Given the description of an element on the screen output the (x, y) to click on. 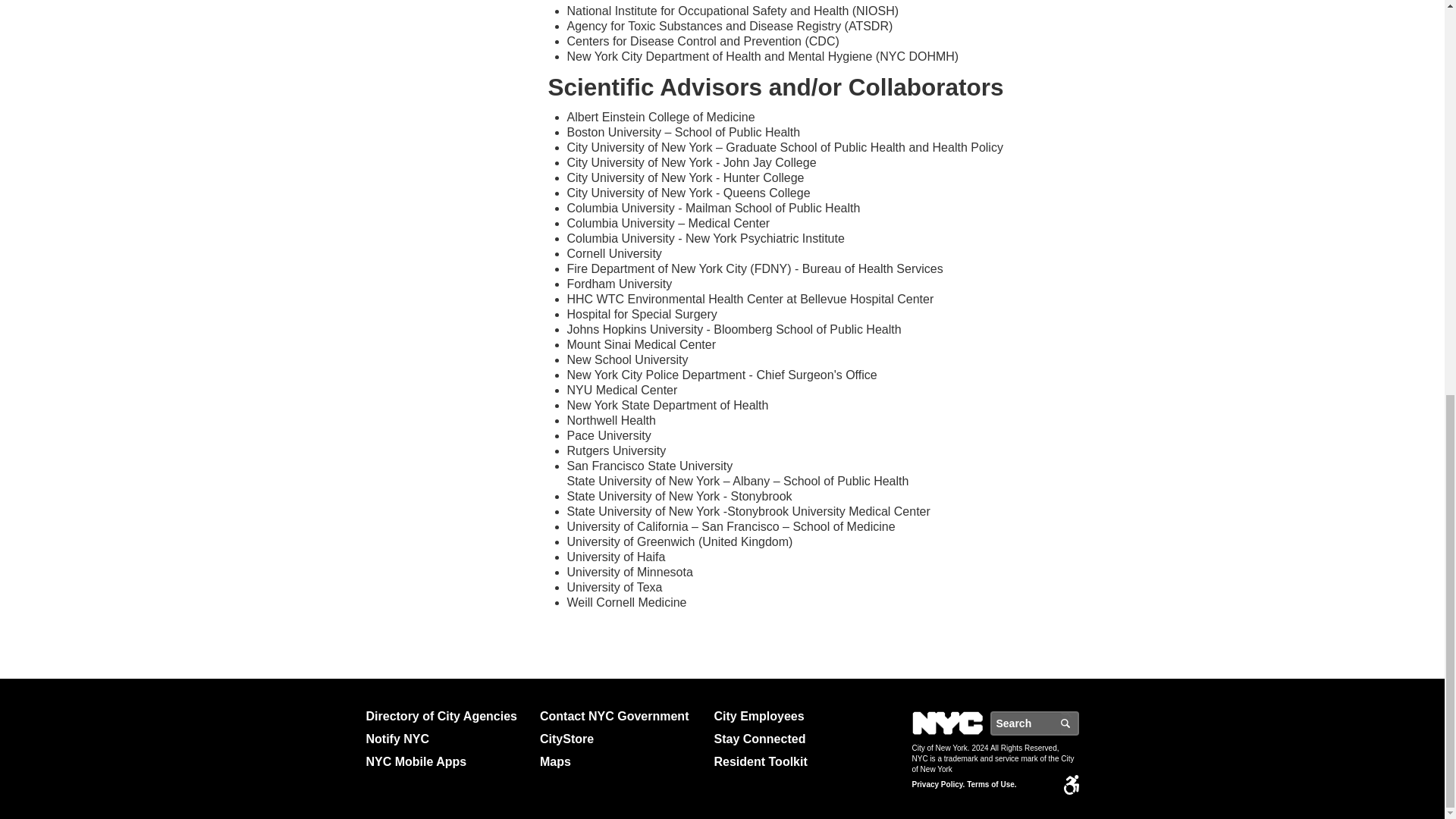
City Employees (795, 716)
Directory of City Agencies (446, 716)
Maps (620, 762)
Contact NYC Government (620, 716)
Resident Toolkit (795, 762)
Notify NYC (446, 739)
NYC Mobile Apps (446, 762)
Privacy Ploicy  (937, 784)
Terms of Use (991, 784)
CityStore (620, 739)
Stay Connected (795, 739)
